Given the description of an element on the screen output the (x, y) to click on. 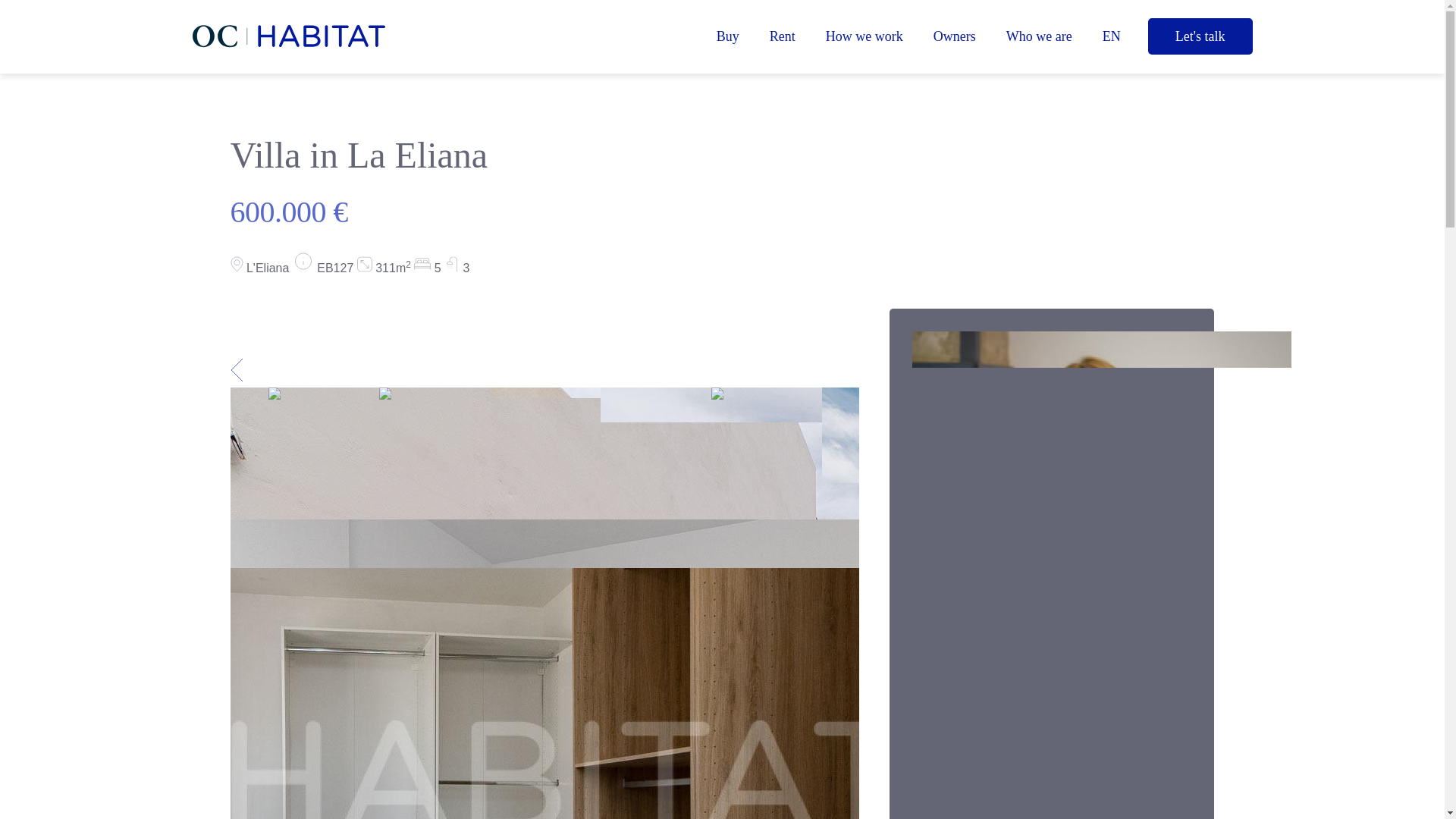
EN (1111, 36)
Buy (727, 36)
Rent (782, 36)
How we work (864, 36)
EN (1111, 36)
Owners (954, 36)
Let's talk (1200, 36)
Who we are (1039, 36)
